Given the description of an element on the screen output the (x, y) to click on. 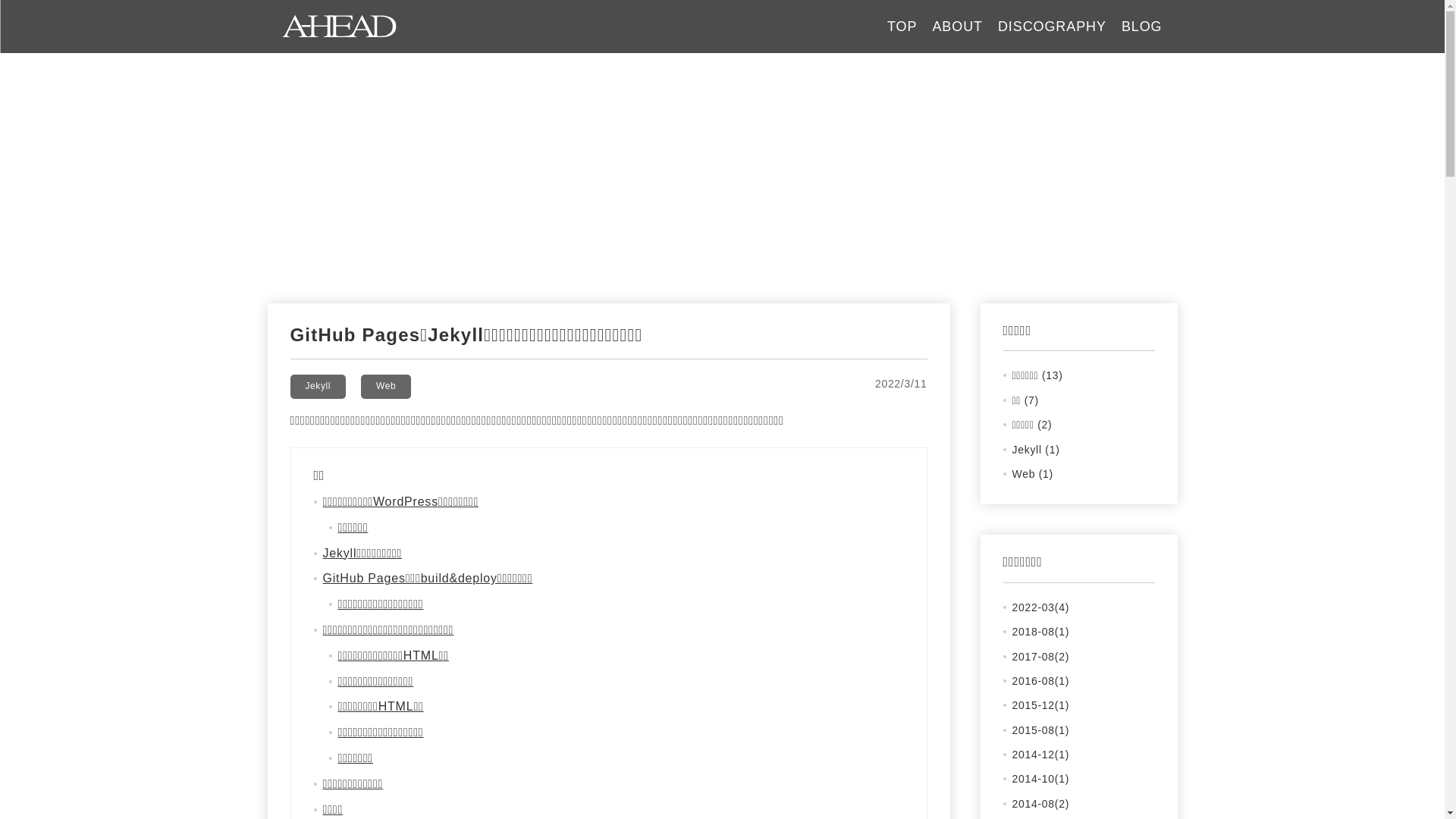
2022-03(4) Element type: text (1040, 607)
Jekyll Element type: text (317, 386)
Jekyll (1) Element type: text (1035, 449)
2015-12(1) Element type: text (1040, 705)
TOP Element type: text (901, 26)
2018-08(1) Element type: text (1040, 631)
2014-10(1) Element type: text (1040, 778)
Web (1) Element type: text (1031, 473)
Web Element type: text (385, 386)
2015-08(1) Element type: text (1040, 730)
DISCOGRAPHY Element type: text (1051, 26)
2014-08(2) Element type: text (1040, 803)
ABOUT Element type: text (956, 26)
2017-08(2) Element type: text (1040, 656)
BLOG Element type: text (1141, 26)
2016-08(1) Element type: text (1040, 680)
2014-12(1) Element type: text (1040, 754)
